Given the description of an element on the screen output the (x, y) to click on. 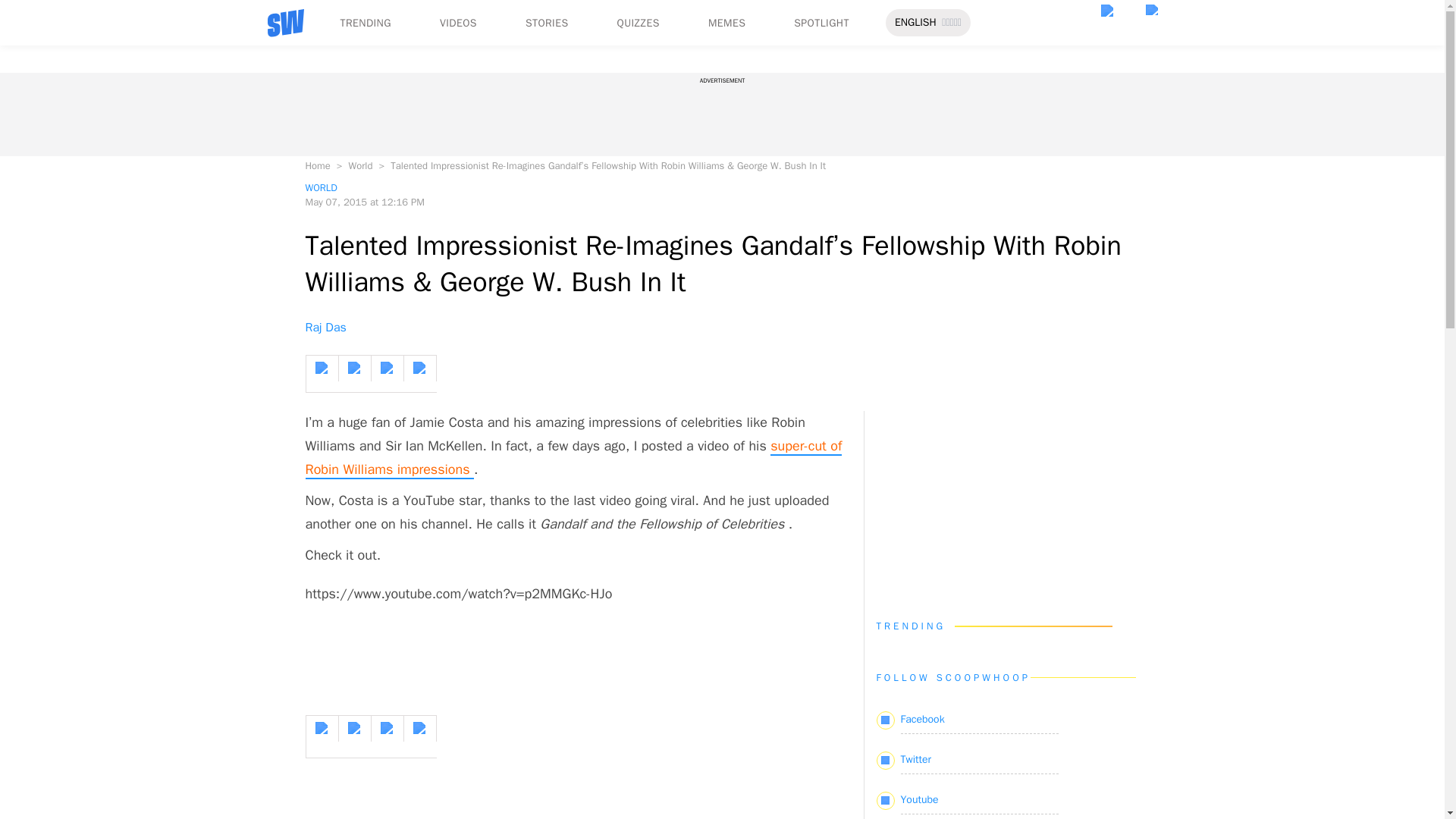
TRENDING (364, 22)
STORIES (547, 22)
QUIZZES (638, 22)
ENGLISH (915, 22)
SPOTLIGHT (820, 22)
MEMES (726, 22)
VIDEOS (458, 22)
